Given the description of an element on the screen output the (x, y) to click on. 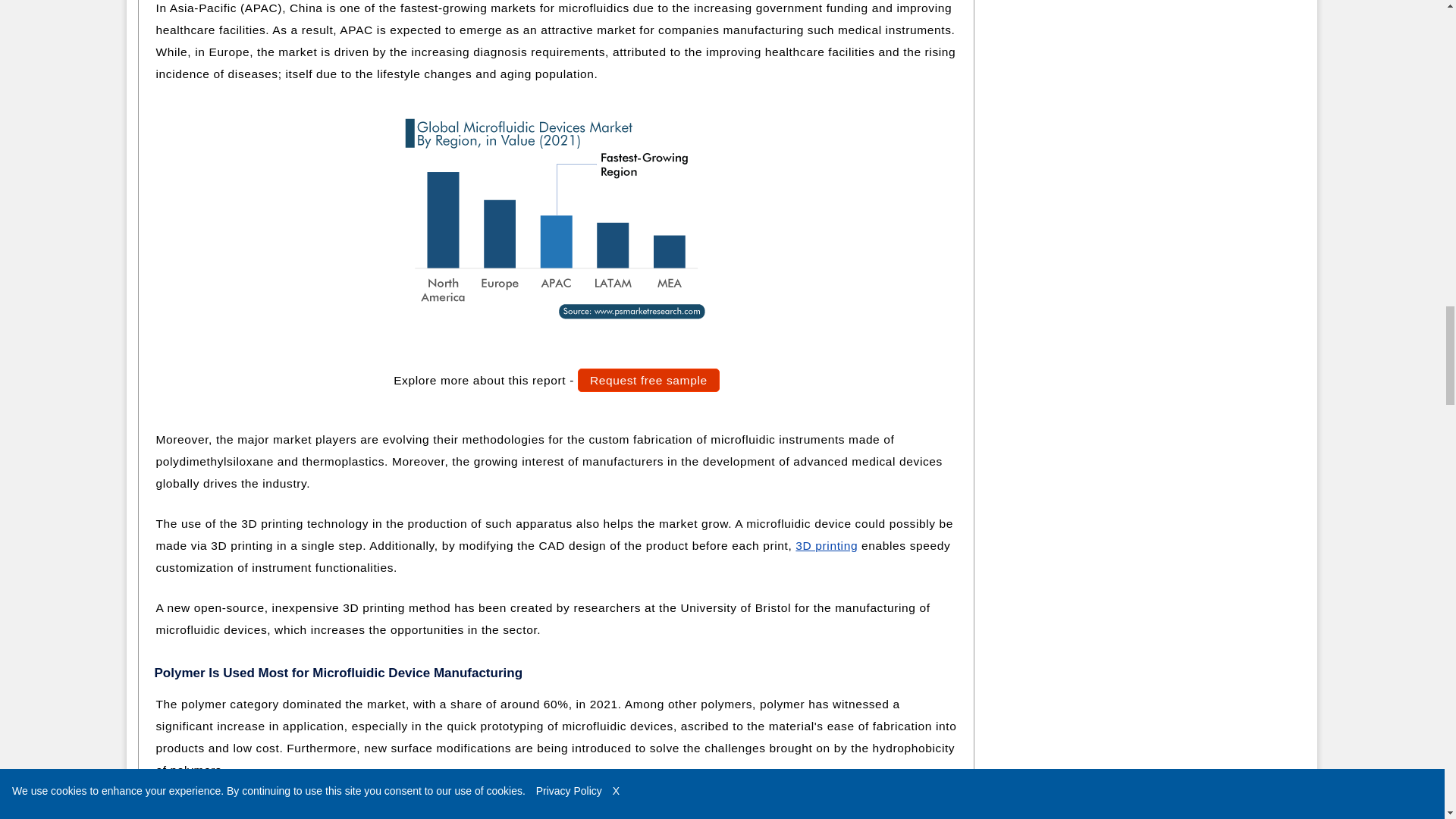
Request free sample (648, 380)
3D printing (825, 545)
